Given the description of an element on the screen output the (x, y) to click on. 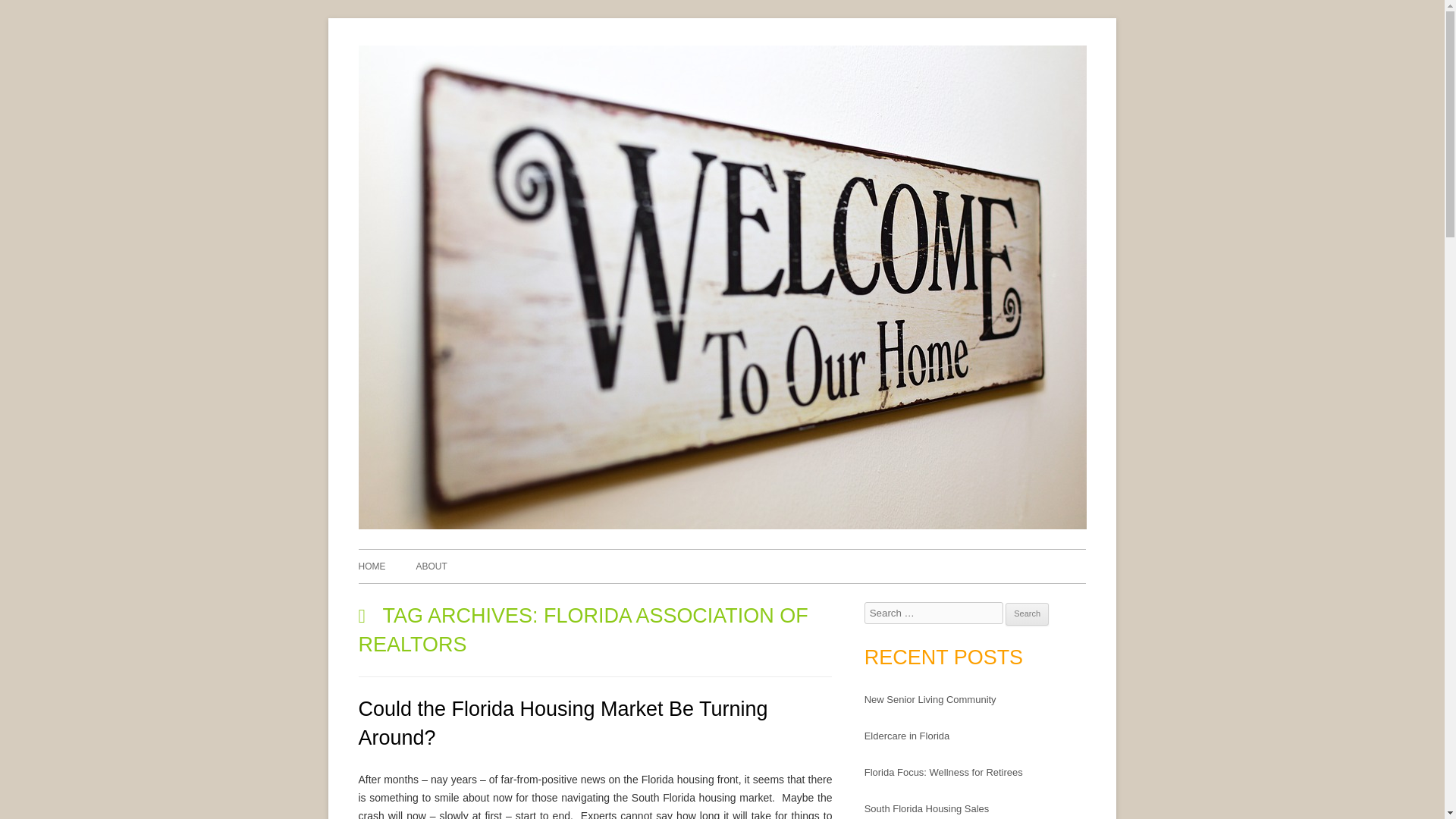
Florida Housing News (1200, 63)
South Florida Housing Sales (927, 808)
Search (1027, 613)
Search (1027, 613)
Florida Focus: Wellness for Retirees (943, 772)
ABOUT (430, 566)
Search (1027, 613)
Could the Florida Housing Market Be Turning Around? (562, 723)
Florida Housing News (1200, 63)
Eldercare in Florida (907, 736)
New Senior Living Community (929, 699)
Florida Housing News (722, 525)
